Given the description of an element on the screen output the (x, y) to click on. 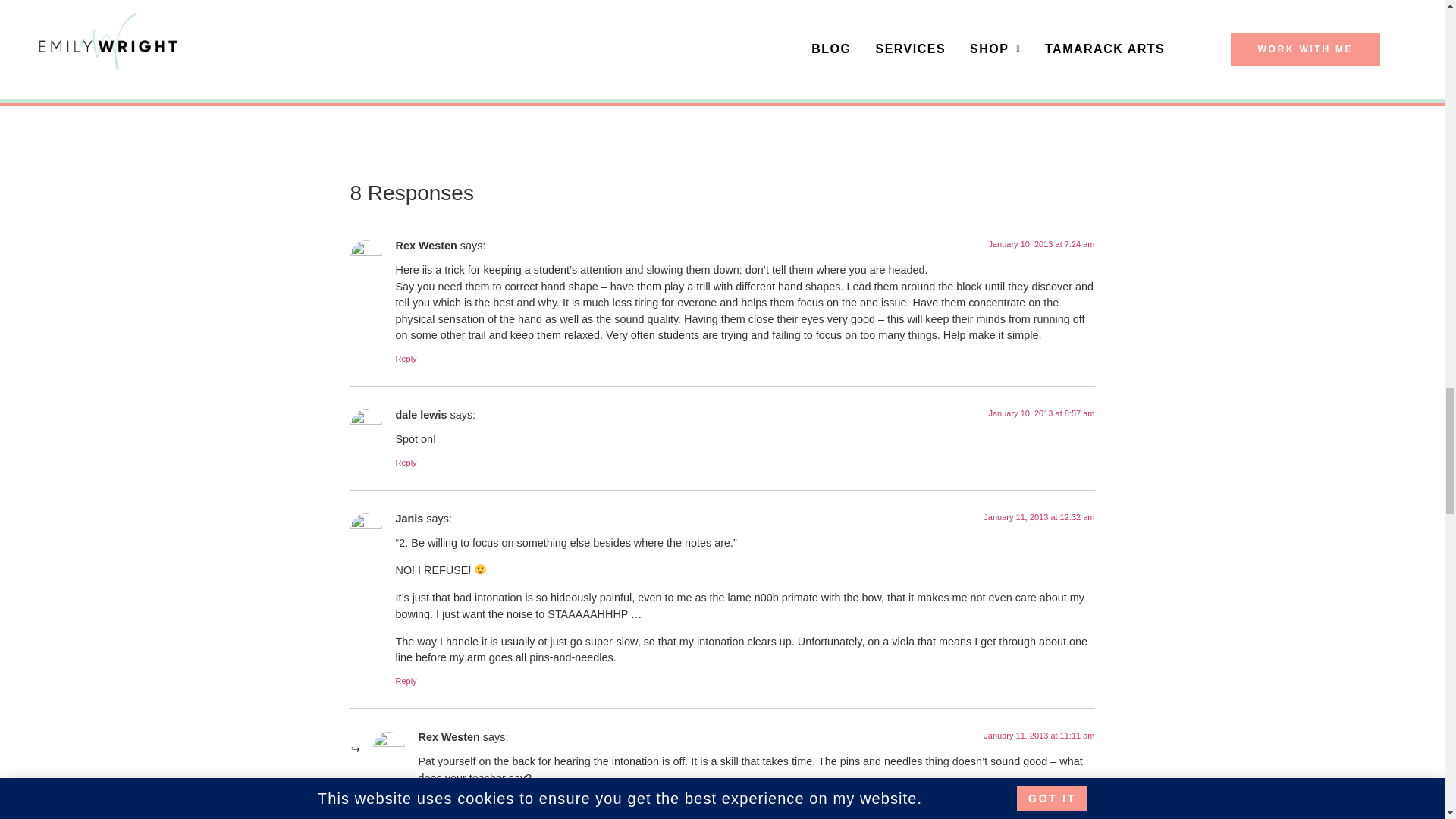
January 10, 2013 at 7:24 am (1041, 243)
